Given the description of an element on the screen output the (x, y) to click on. 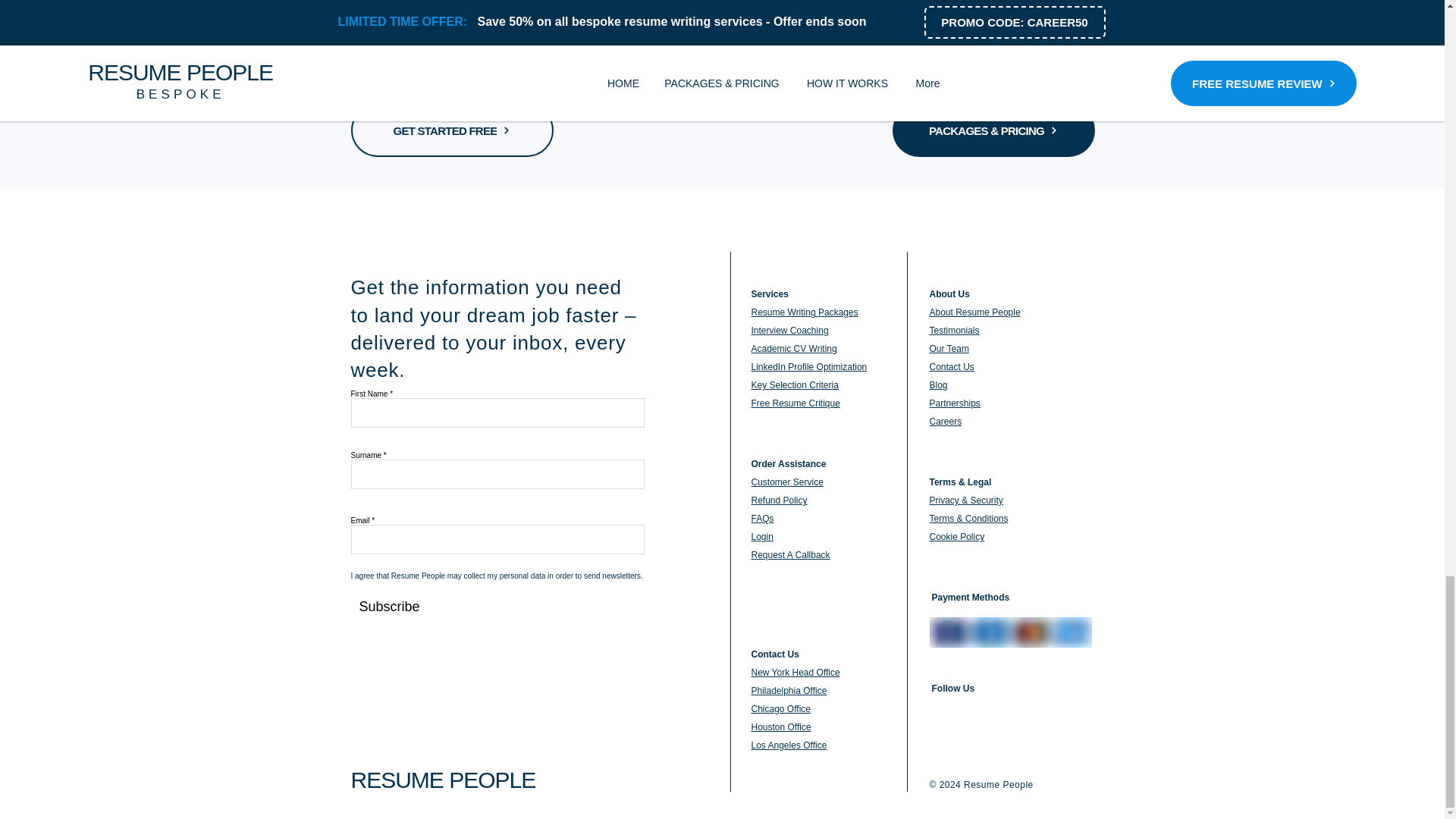
Free Resume Critique (795, 403)
FAQs (762, 518)
Refund Policy (778, 500)
Interview Coaching (789, 330)
Customer Service (786, 481)
Login (762, 536)
Subscribe (384, 607)
Request A Callback (790, 554)
GET STARTED FREE (451, 130)
Resume Writing Packages (804, 312)
